Given the description of an element on the screen output the (x, y) to click on. 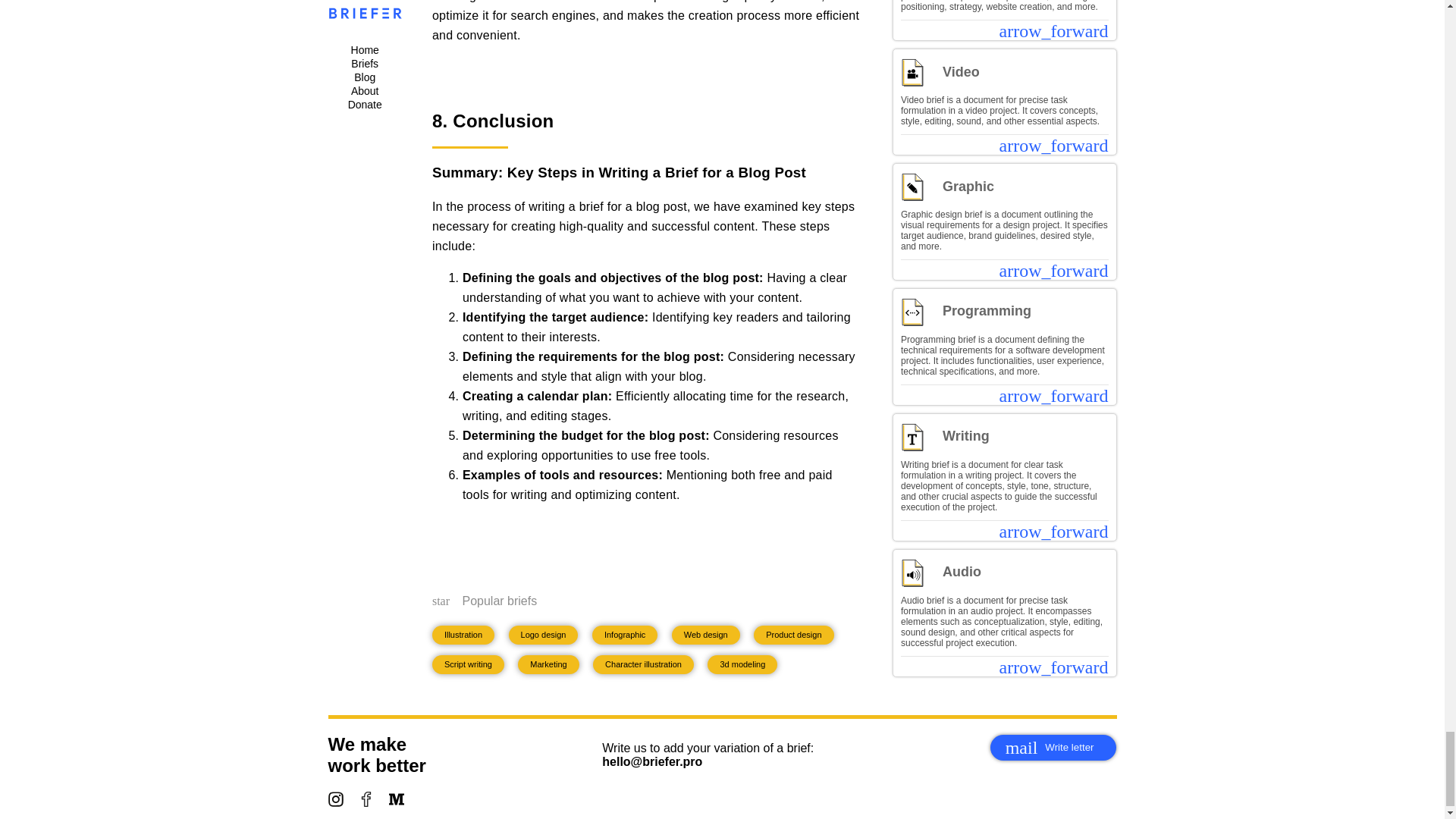
Character illustration (643, 664)
Infographic (625, 634)
Product design (793, 634)
Illustration (463, 634)
Logo design (543, 634)
Marketing (548, 664)
Web design (1053, 747)
3d modeling (705, 634)
Script writing (742, 664)
